Given the description of an element on the screen output the (x, y) to click on. 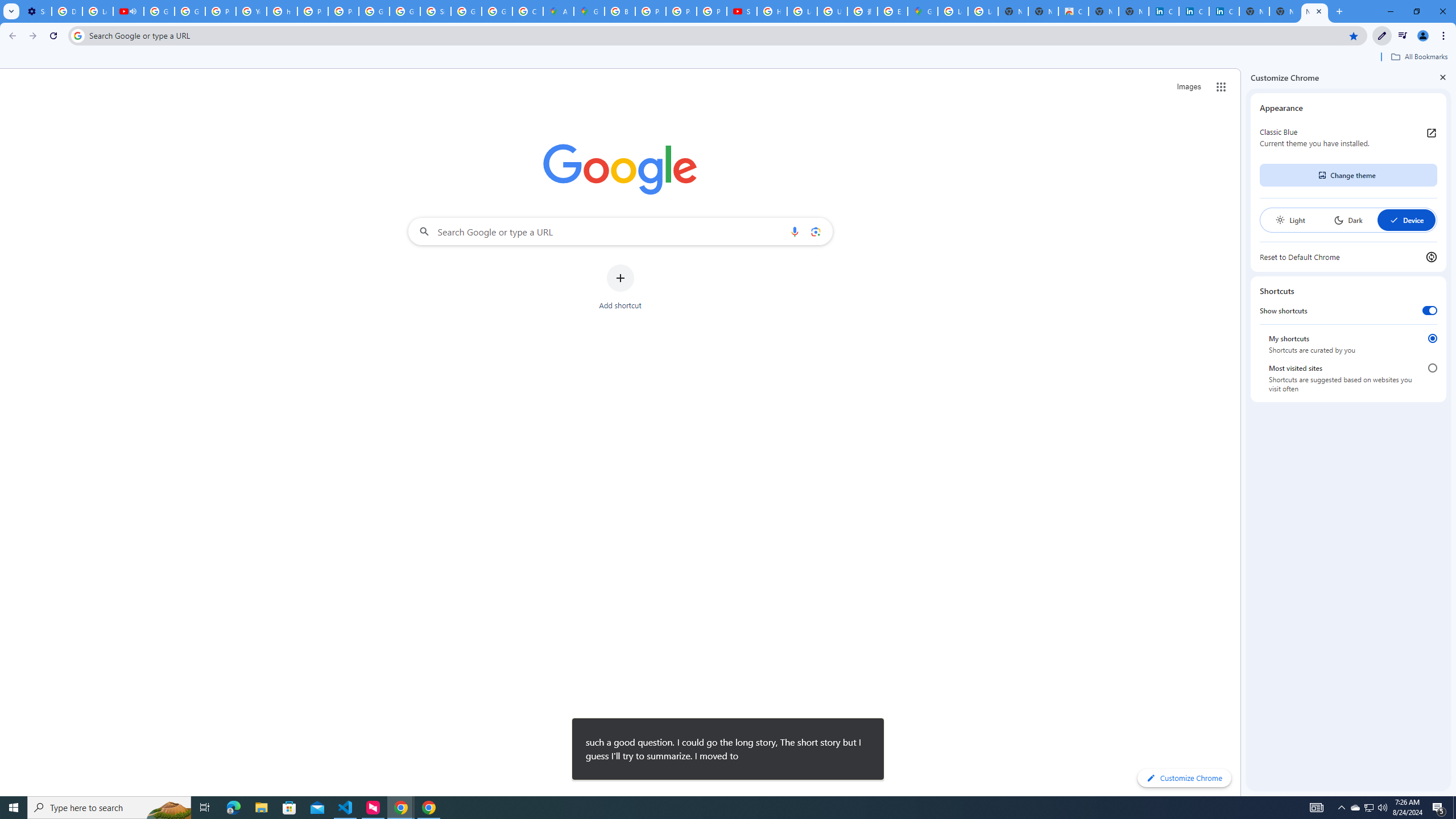
Google Maps (922, 11)
Create your Google Account (527, 11)
Blogger Policies and Guidelines - Transparency Center (619, 11)
Change theme (1348, 174)
Cookie Policy | LinkedIn (1193, 11)
Delete photos & videos - Computer - Google Photos Help (66, 11)
AutomationID: baseSvg (1394, 219)
Dark (1348, 219)
